Given the description of an element on the screen output the (x, y) to click on. 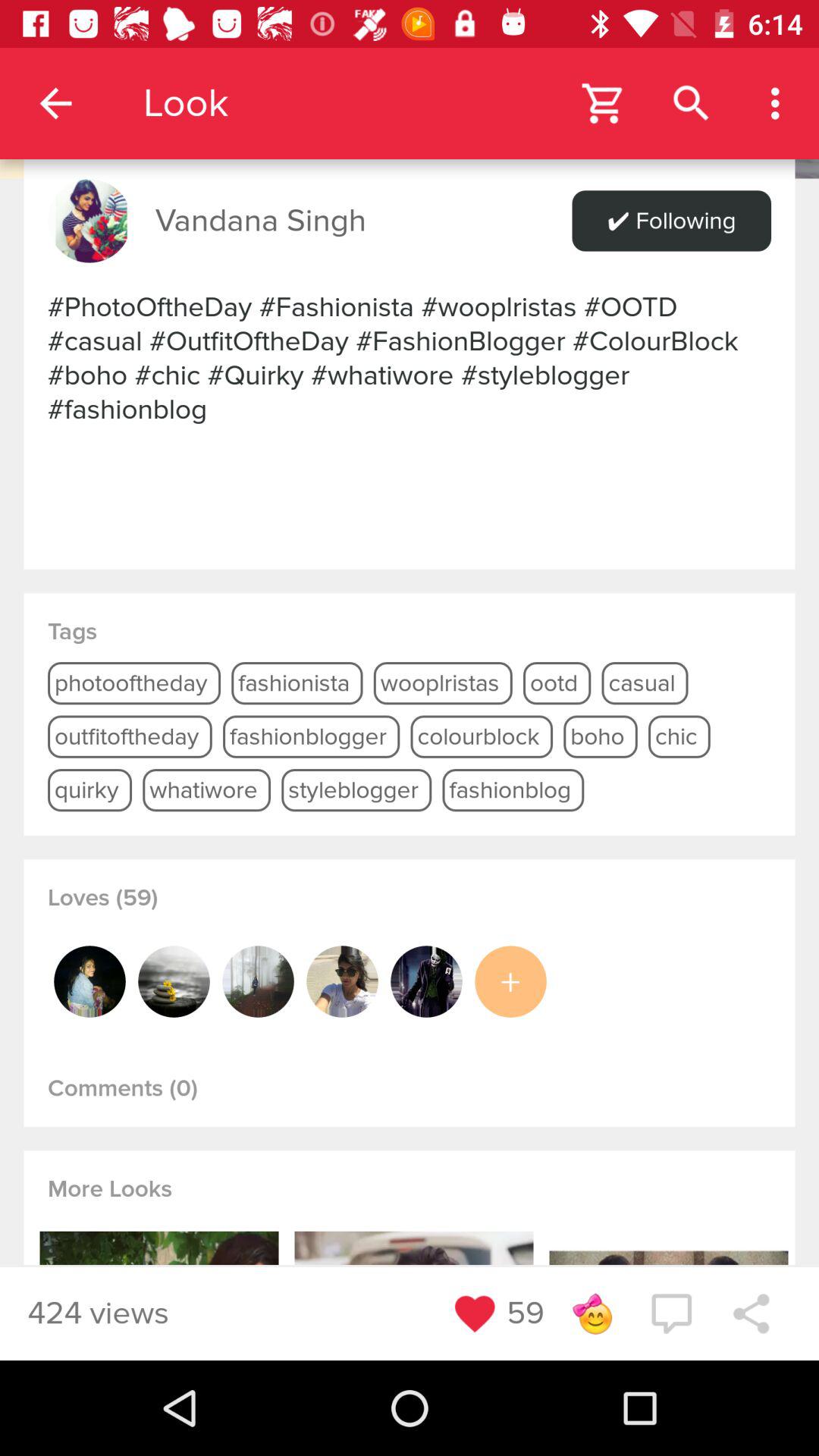
share this profile (751, 1313)
